Given the description of an element on the screen output the (x, y) to click on. 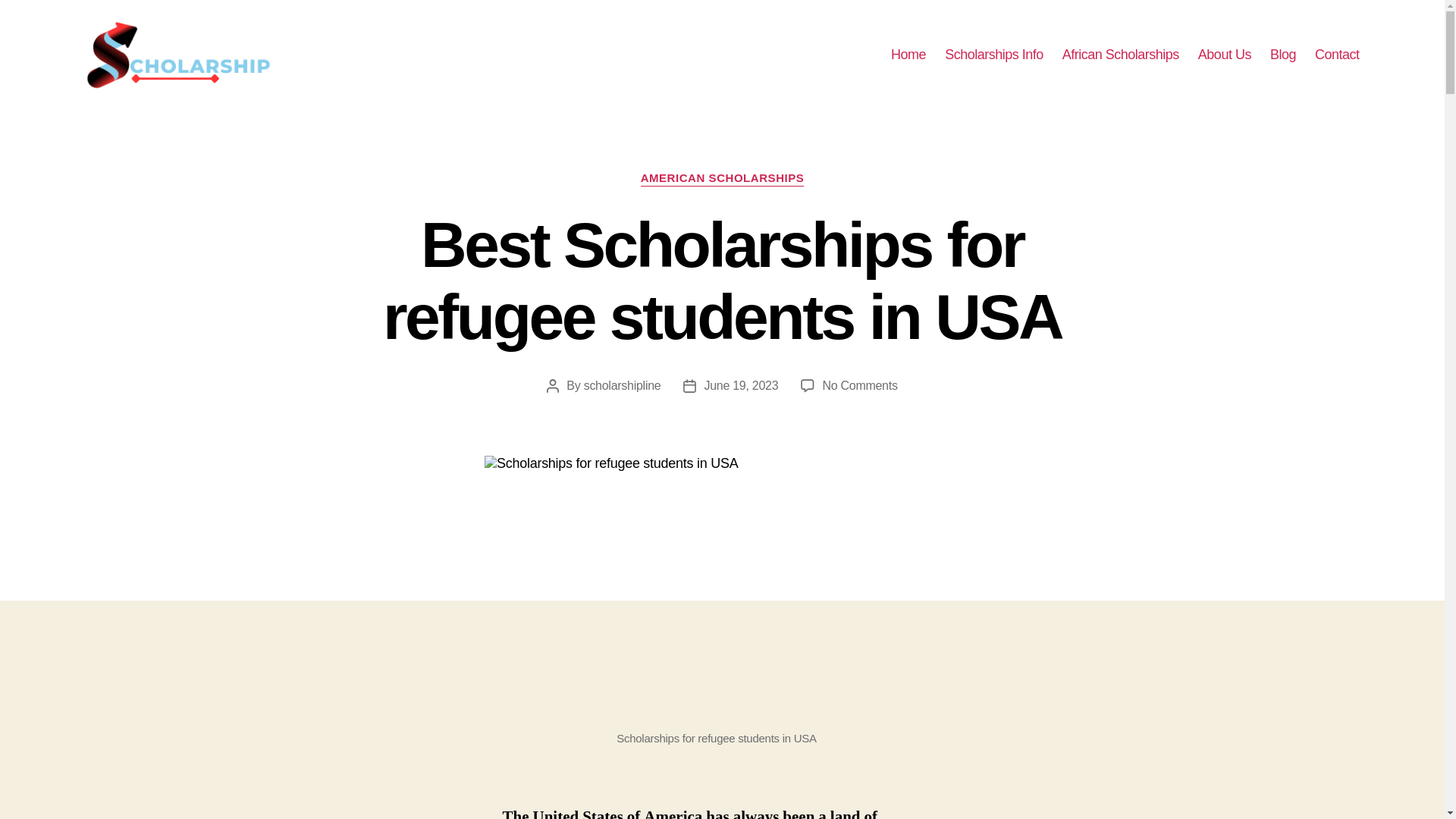
African Scholarships (1120, 54)
Contact (1336, 54)
Blog (1282, 54)
About Us (1224, 54)
Scholarships Info (993, 54)
scholarshipline (622, 385)
Home (908, 54)
June 19, 2023 (859, 385)
AMERICAN SCHOLARSHIPS (740, 385)
